Given the description of an element on the screen output the (x, y) to click on. 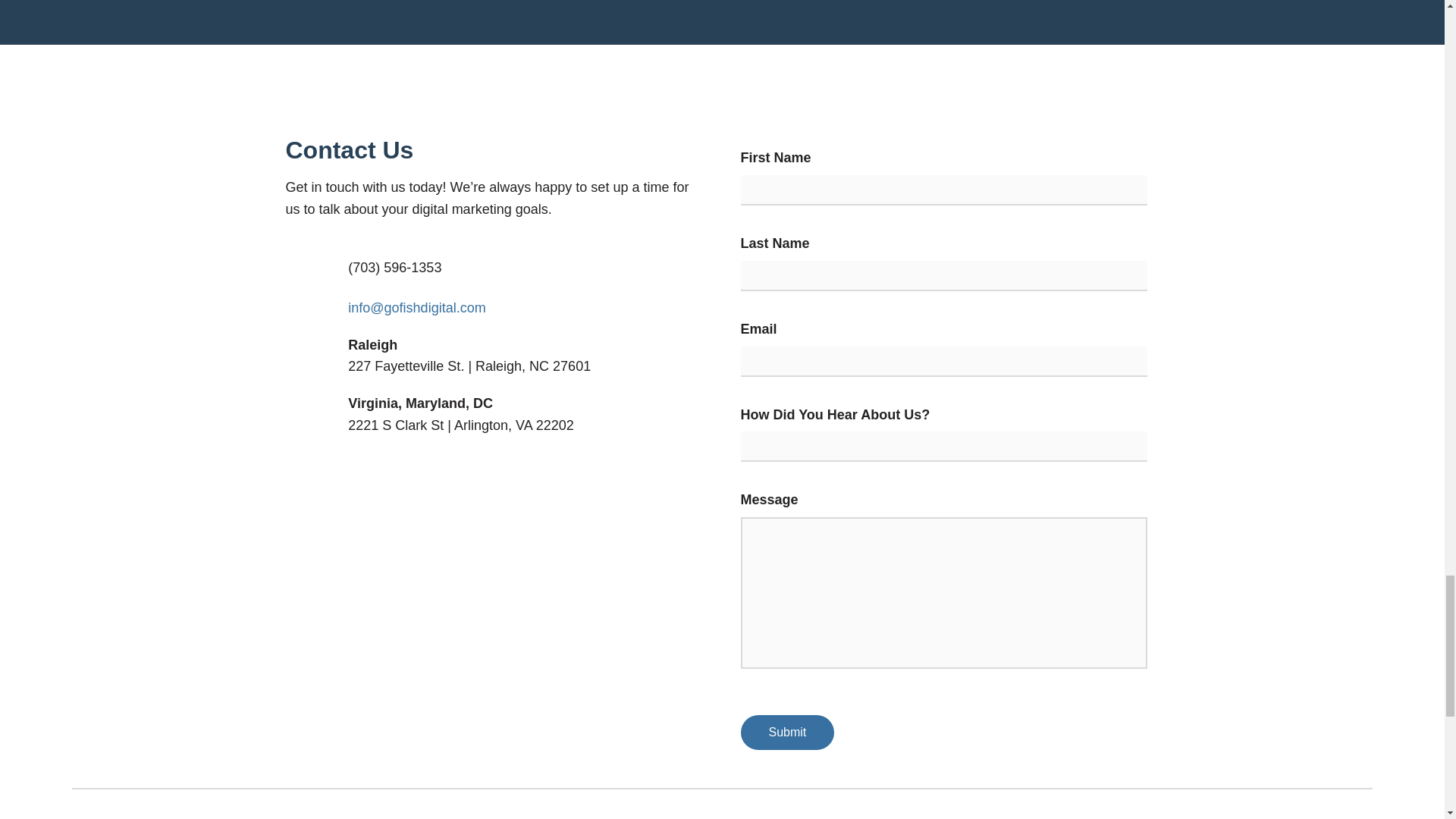
Submit (786, 732)
